Given the description of an element on the screen output the (x, y) to click on. 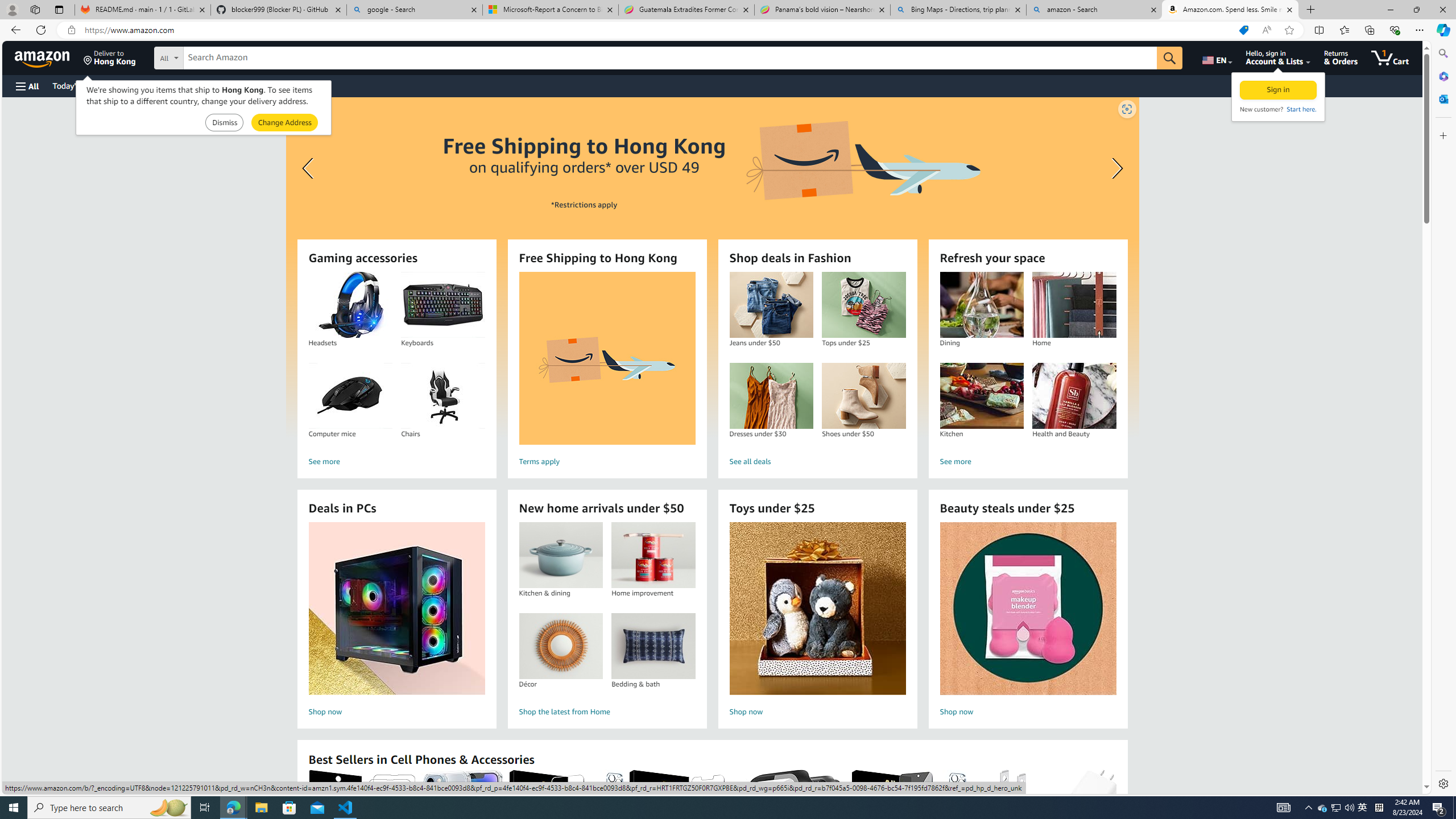
Amazon.com. Spend less. Smile more. (1230, 9)
Computer mice (350, 395)
1 item in cart (1389, 57)
Bedding & bath (652, 645)
Tops under $25 (863, 304)
Previous slide (309, 168)
See all deals (817, 461)
Shoes under $50 (863, 395)
Today's Deals (76, 85)
